Given the description of an element on the screen output the (x, y) to click on. 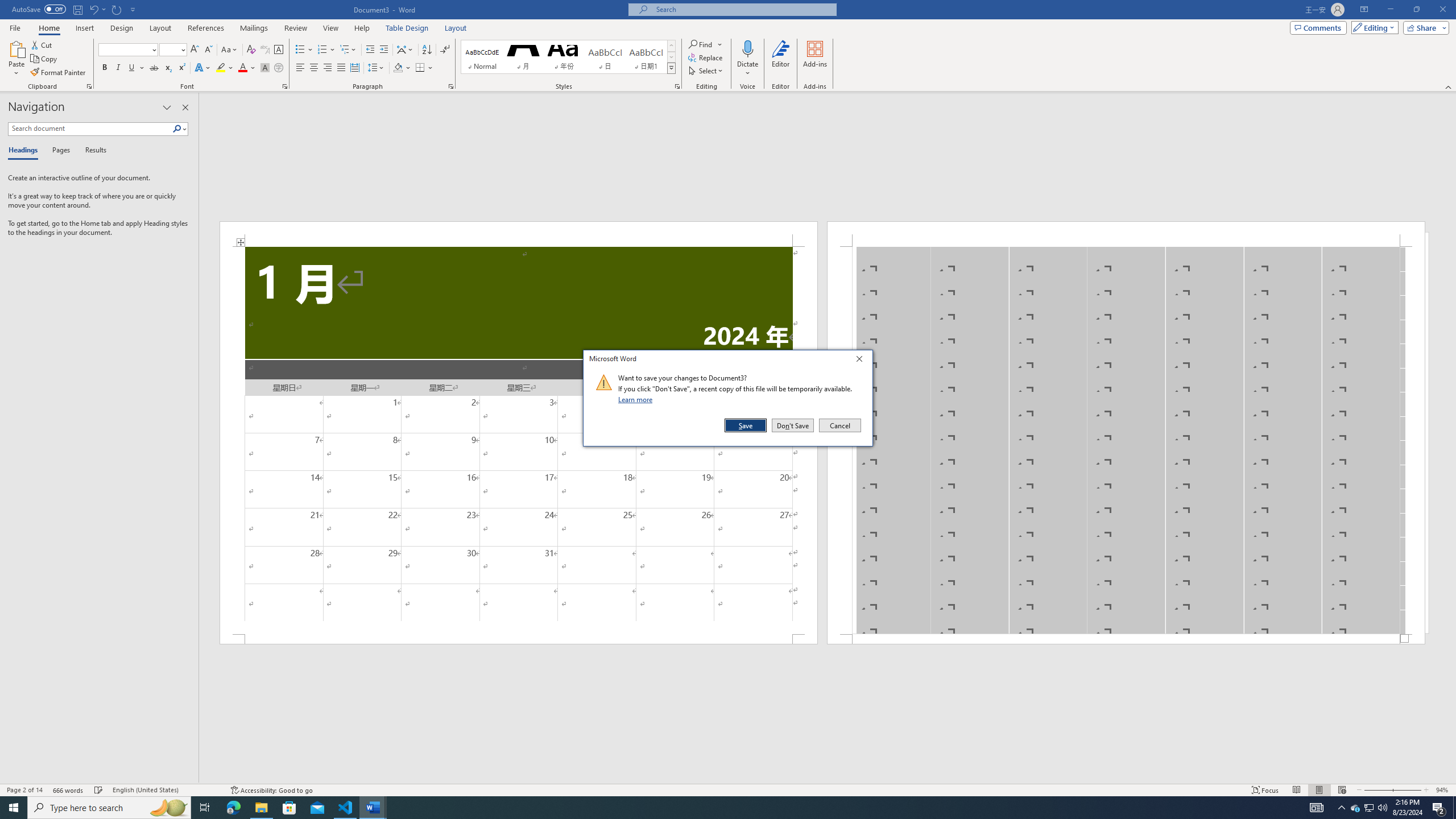
Accessibility Checker Accessibility: Good to go (271, 790)
Asian Layout (405, 49)
Search highlights icon opens search home window (167, 807)
Class: MsoCommandBar (728, 789)
Copy (45, 58)
Strikethrough (154, 67)
Shrink Font (208, 49)
Replace... (705, 56)
